Given the description of an element on the screen output the (x, y) to click on. 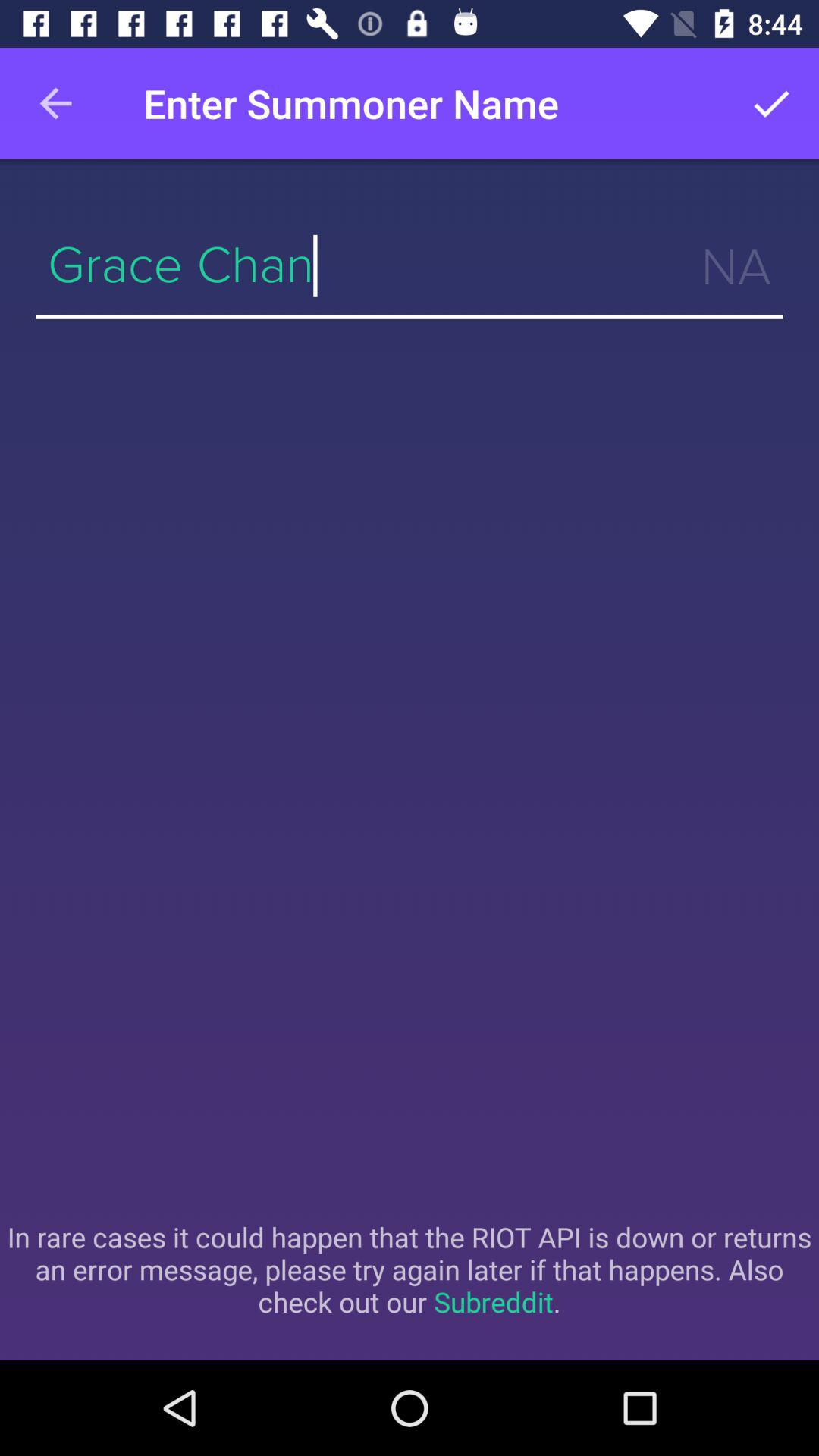
choose the item to the left of the enter summoner name (55, 103)
